Given the description of an element on the screen output the (x, y) to click on. 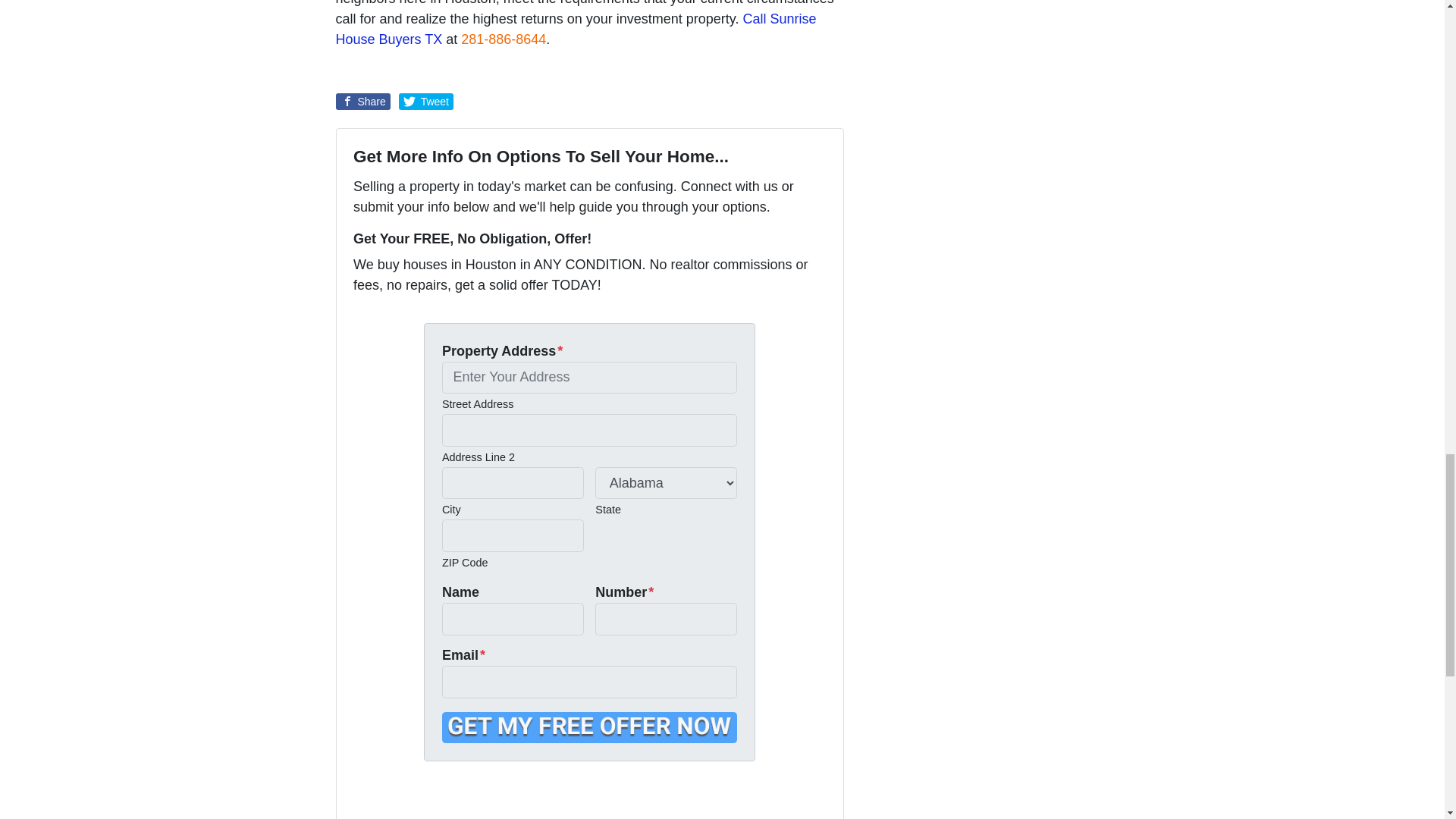
Call Sunrise House Buyers TX (574, 28)
LinkedIn (425, 797)
Tweet (425, 101)
Facebook (383, 797)
Share (362, 101)
Houzz (489, 797)
Share on Twitter (425, 101)
Share on Facebook (362, 101)
281-886-8644 (503, 38)
Zillow (468, 797)
Twitter (362, 797)
Instagram (447, 797)
YouTube (404, 797)
